Given the description of an element on the screen output the (x, y) to click on. 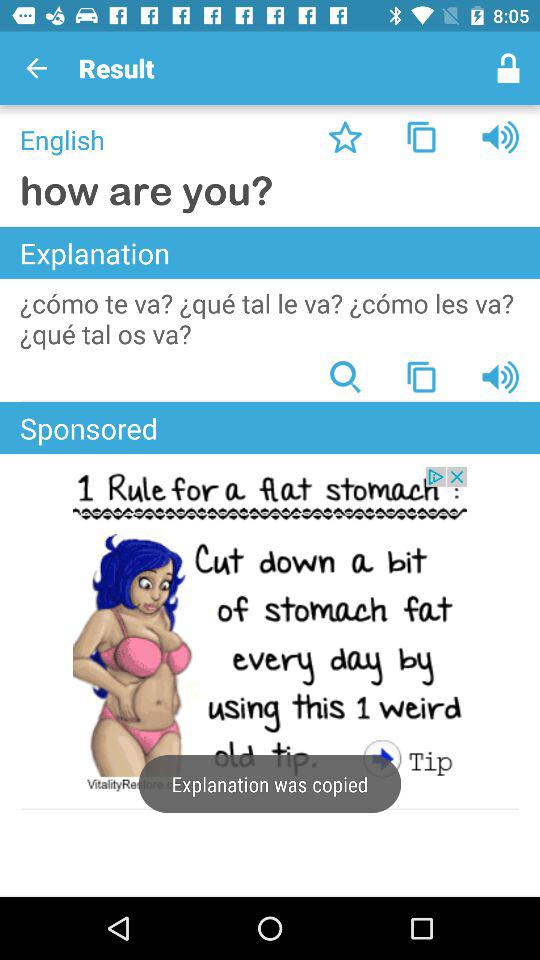
tap icon to the right of result (508, 67)
